Given the description of an element on the screen output the (x, y) to click on. 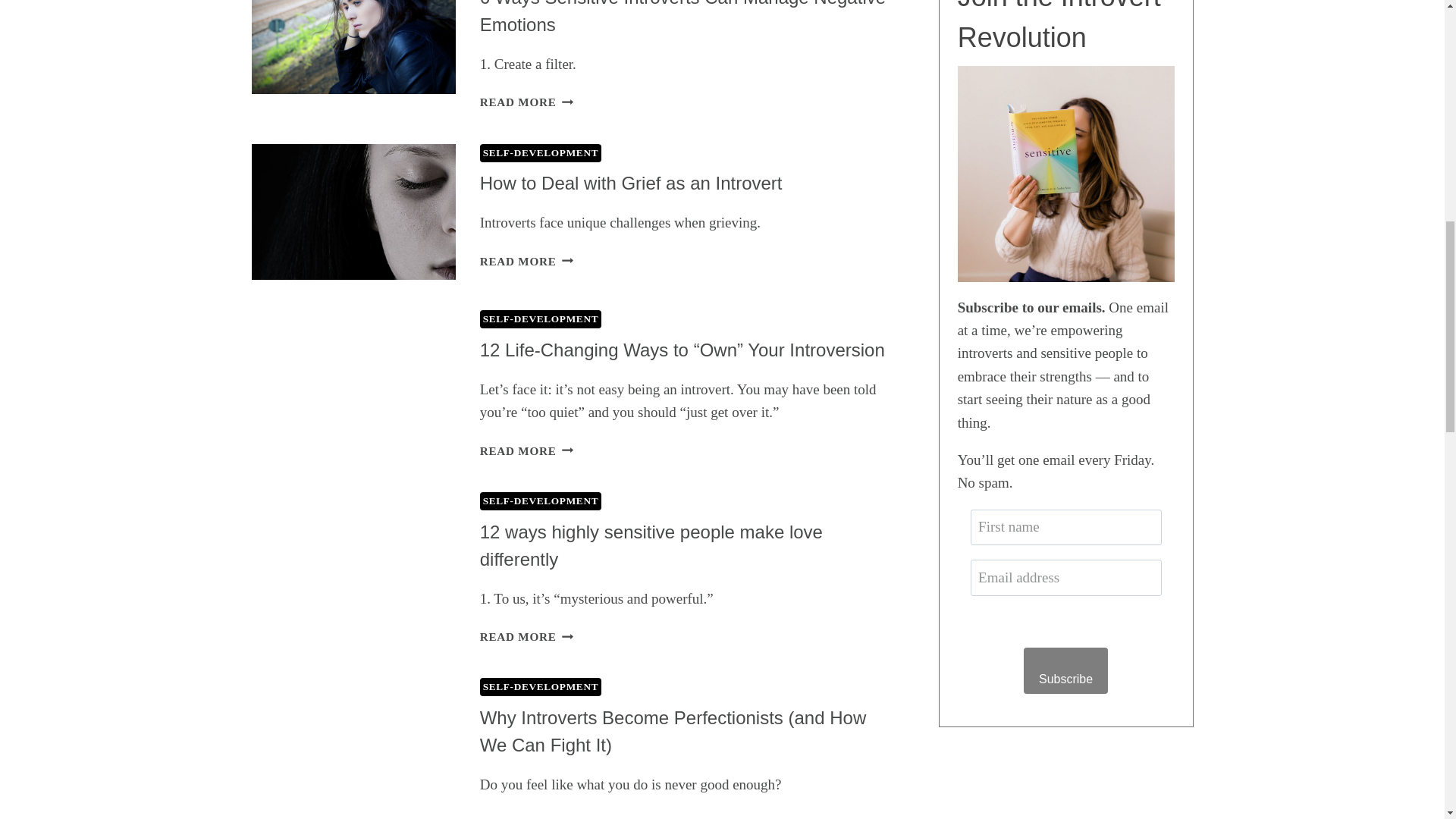
SELF-DEVELOPMENT (541, 153)
How to Deal with Grief as an Introvert (631, 182)
6 Ways Sensitive Introverts Can Manage Negative Emotions (682, 17)
